Given the description of an element on the screen output the (x, y) to click on. 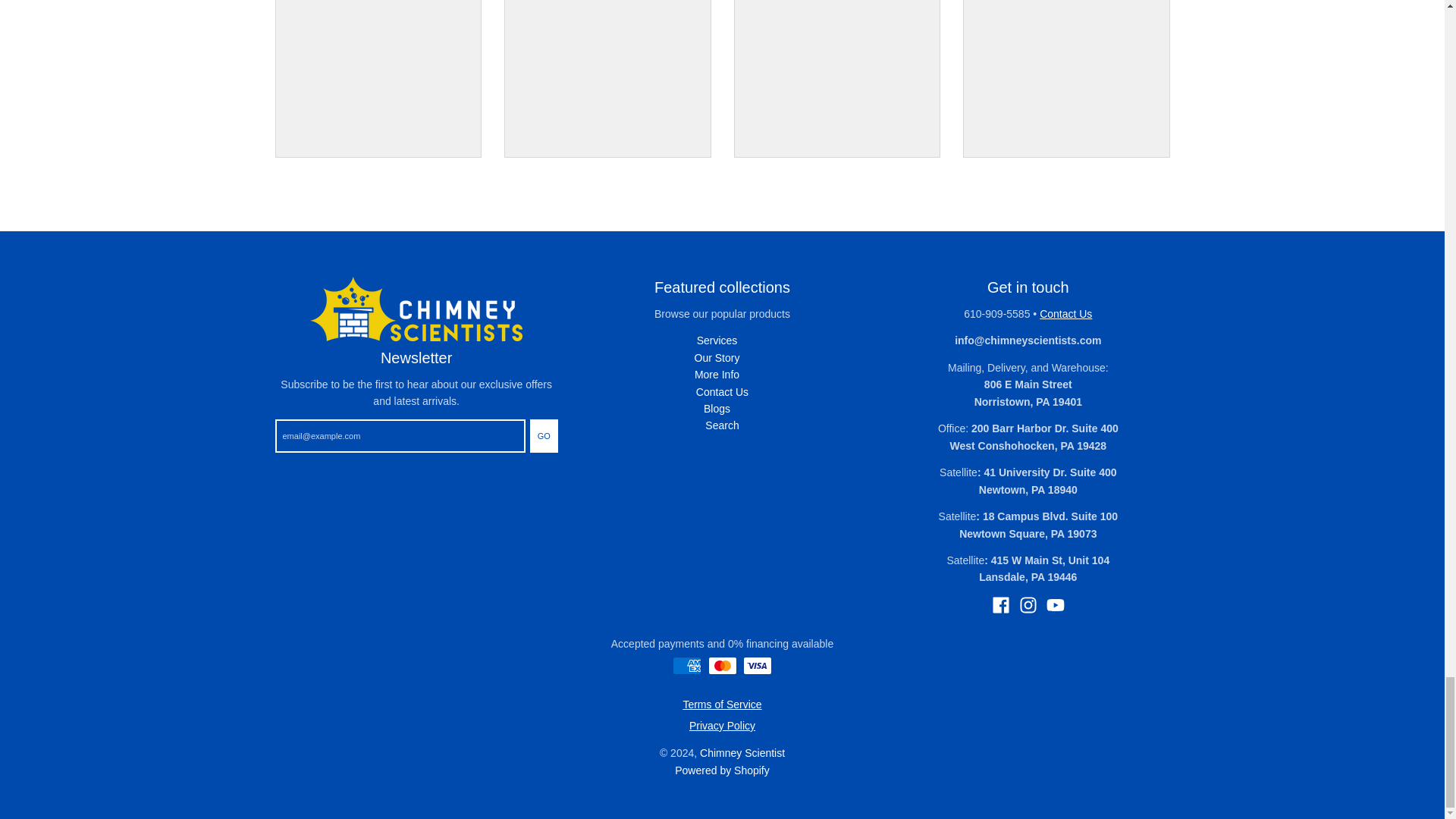
Facebook - Chimney Scientist (1000, 605)
YouTube - Chimney Scientist (1055, 605)
Instagram - Chimney Scientist (1027, 605)
